Given the description of an element on the screen output the (x, y) to click on. 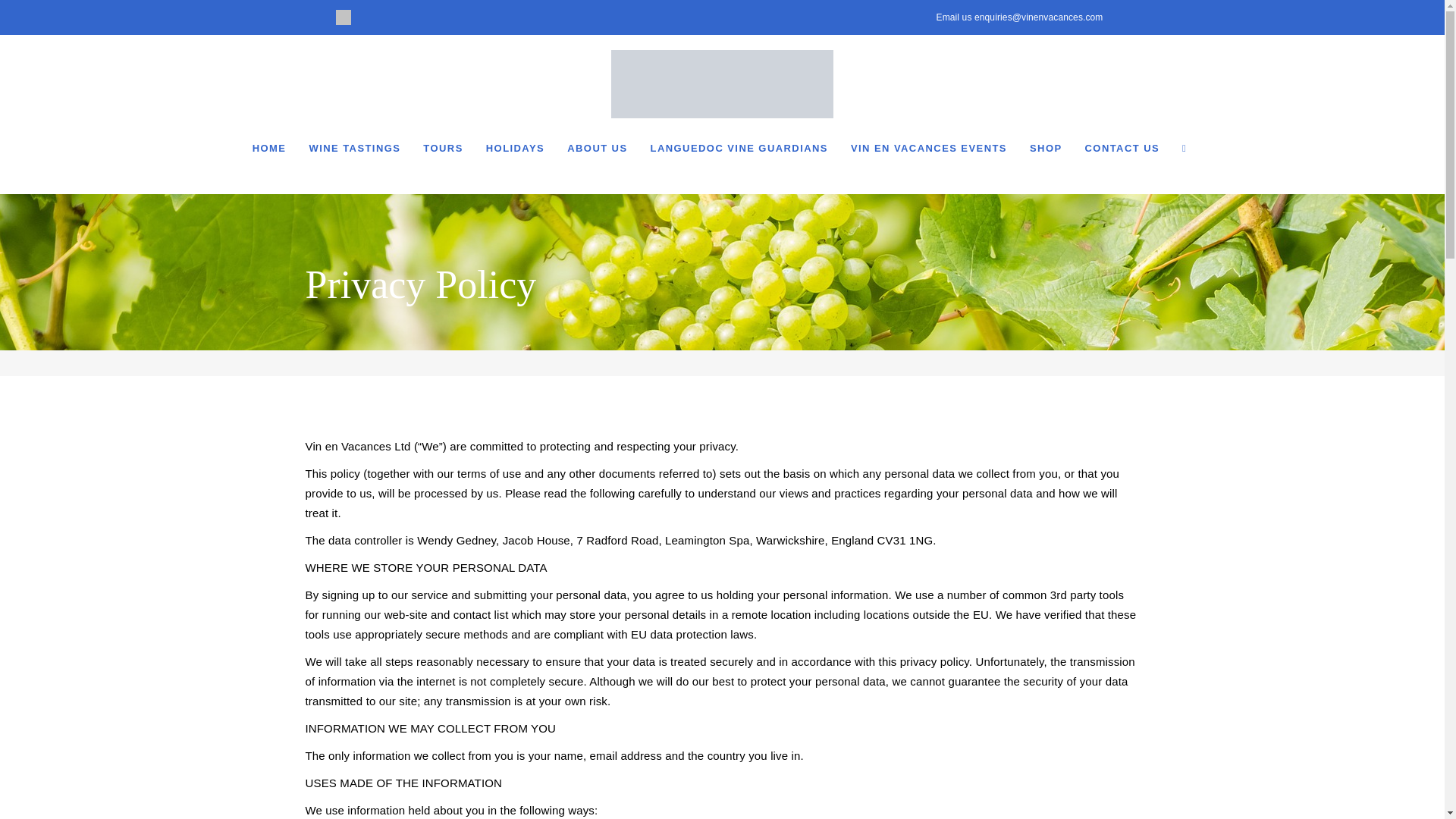
WINE TASTINGS (354, 148)
HOLIDAYS (514, 148)
CONTACT US (1122, 148)
LANGUEDOC VINE GUARDIANS (738, 148)
SHOP (1045, 148)
TOURS (442, 148)
HOME (268, 148)
VIN EN VACANCES EVENTS (928, 148)
ABOUT US (596, 148)
